Given the description of an element on the screen output the (x, y) to click on. 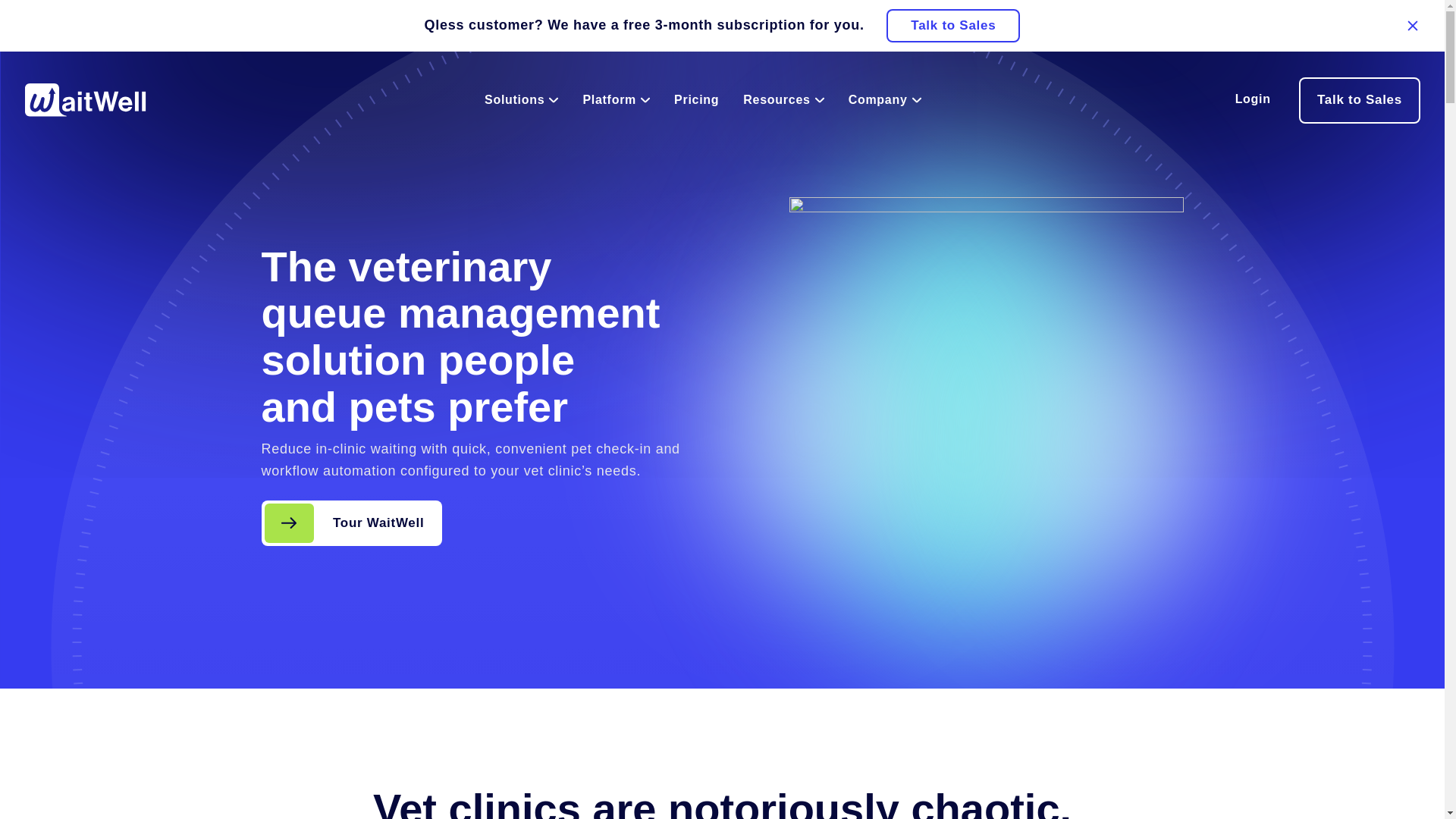
Talk to Sales (1359, 99)
Tour WaitWell (351, 523)
Login (1252, 99)
WaitWell (85, 99)
Close (1413, 25)
Pricing (696, 99)
Talk to Sales (953, 25)
